Given the description of an element on the screen output the (x, y) to click on. 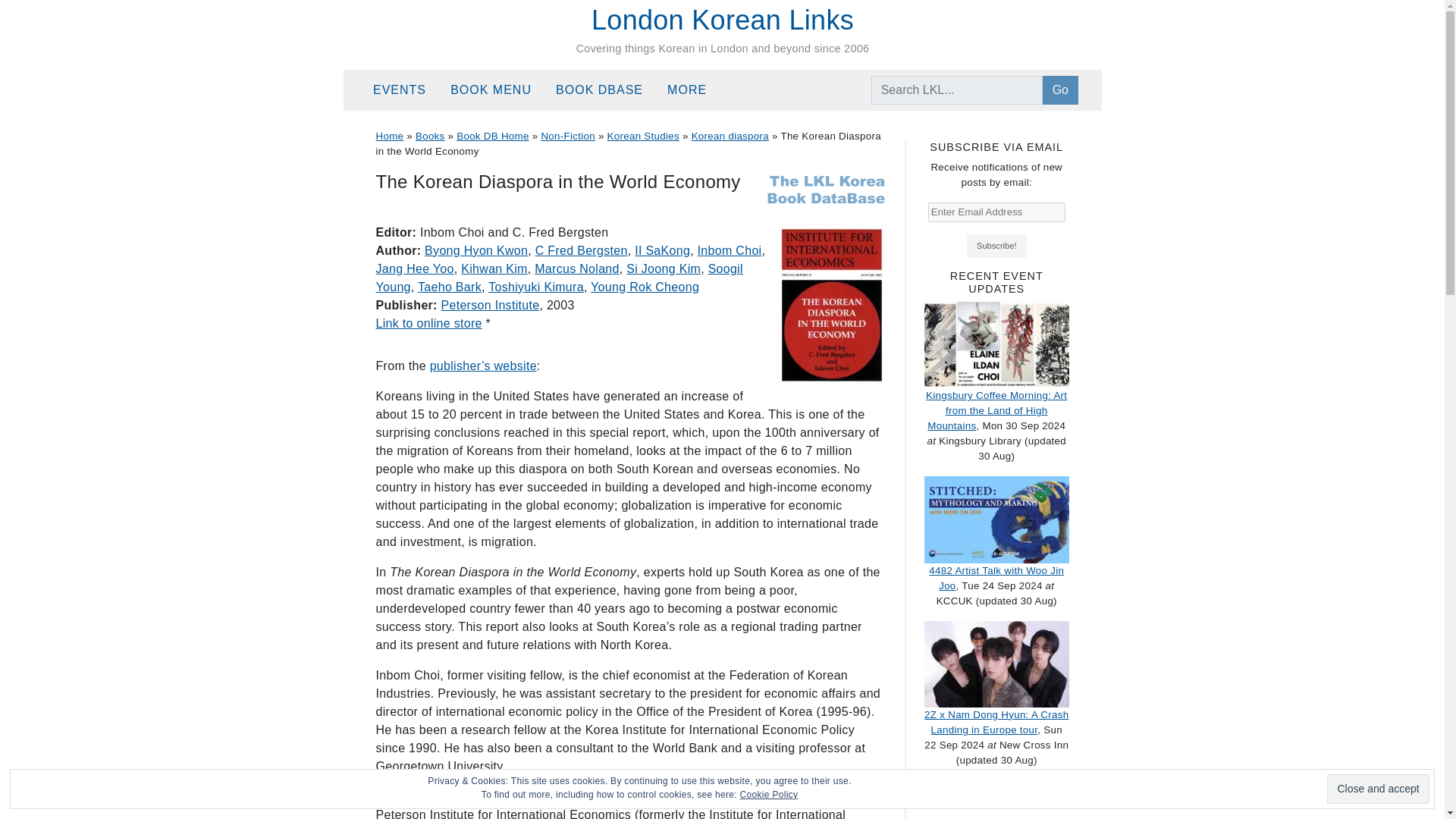
EVENTS (405, 90)
Events (405, 90)
Book menu (497, 90)
London Korean Links (722, 20)
Close and accept (1377, 788)
BOOK MENU (497, 90)
BOOK DBASE (605, 90)
MORE (693, 90)
